Given the description of an element on the screen output the (x, y) to click on. 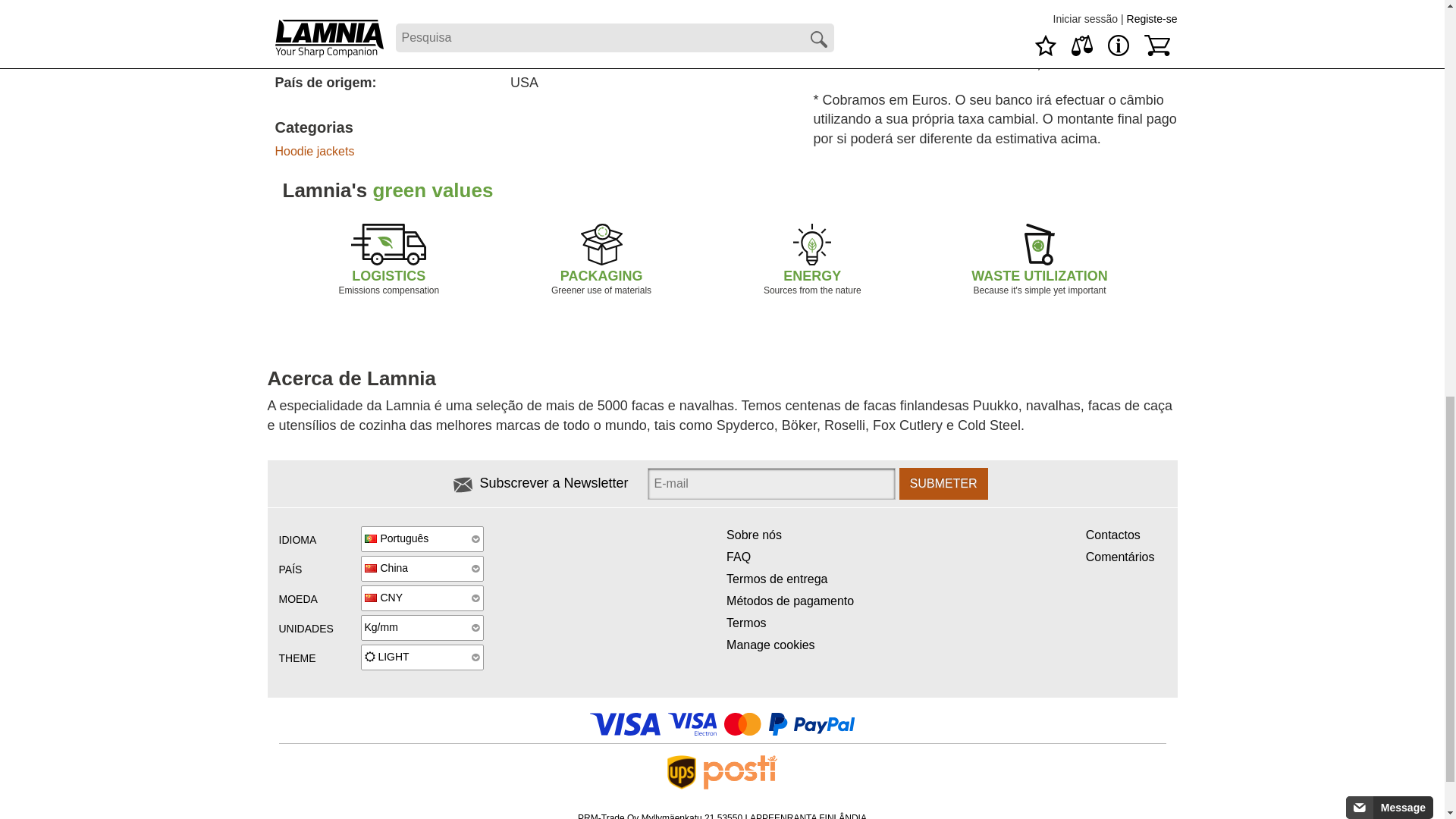
Energy - Sources from the nature (812, 244)
LIGHT (422, 657)
Logistics - Emissions compensation (388, 244)
Posti (740, 772)
Packaging - Greener use of materials (601, 244)
China (422, 568)
CNY (422, 597)
